Given the description of an element on the screen output the (x, y) to click on. 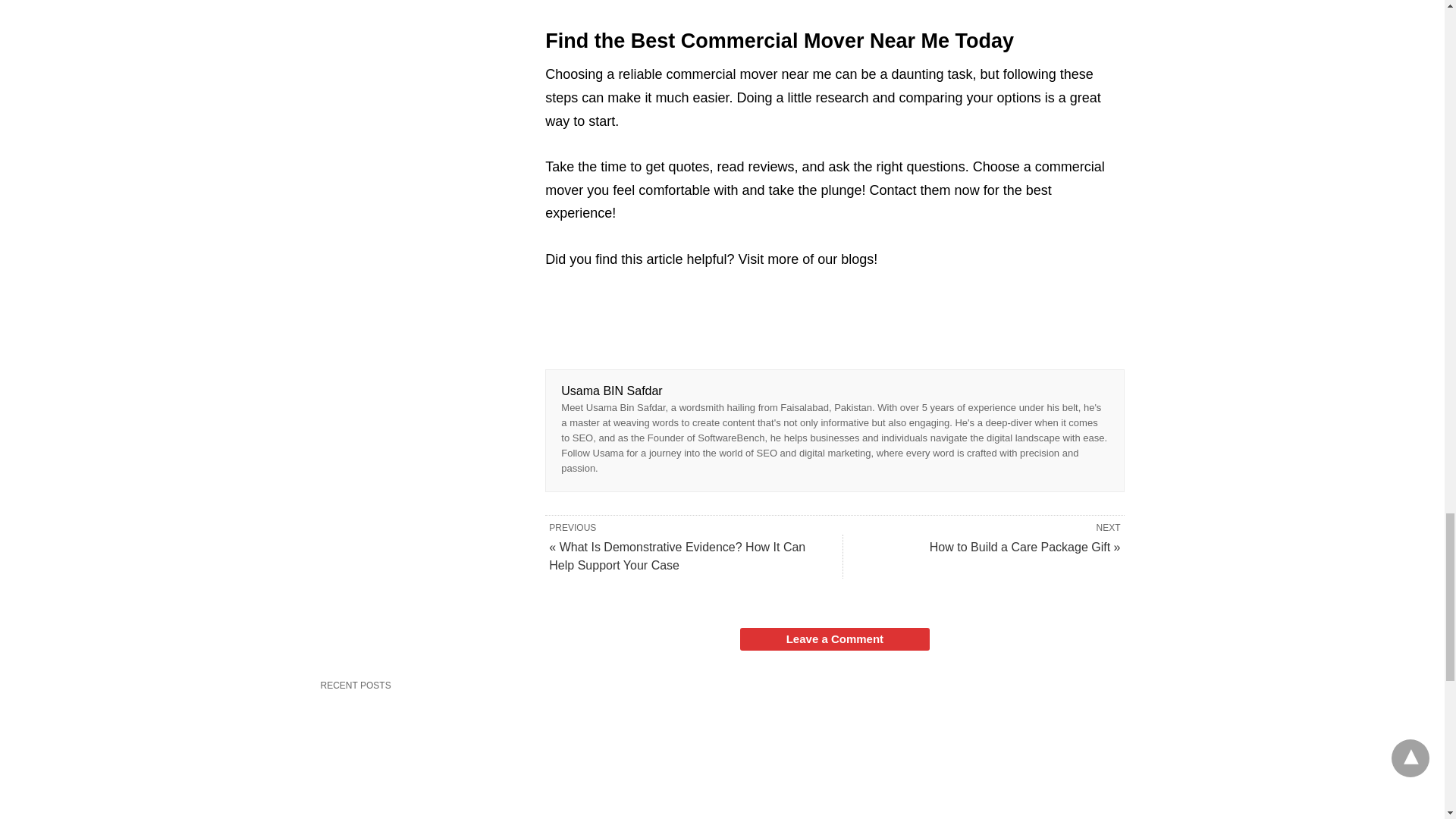
Leave a Comment (834, 639)
Leave a Comment (834, 639)
